Given the description of an element on the screen output the (x, y) to click on. 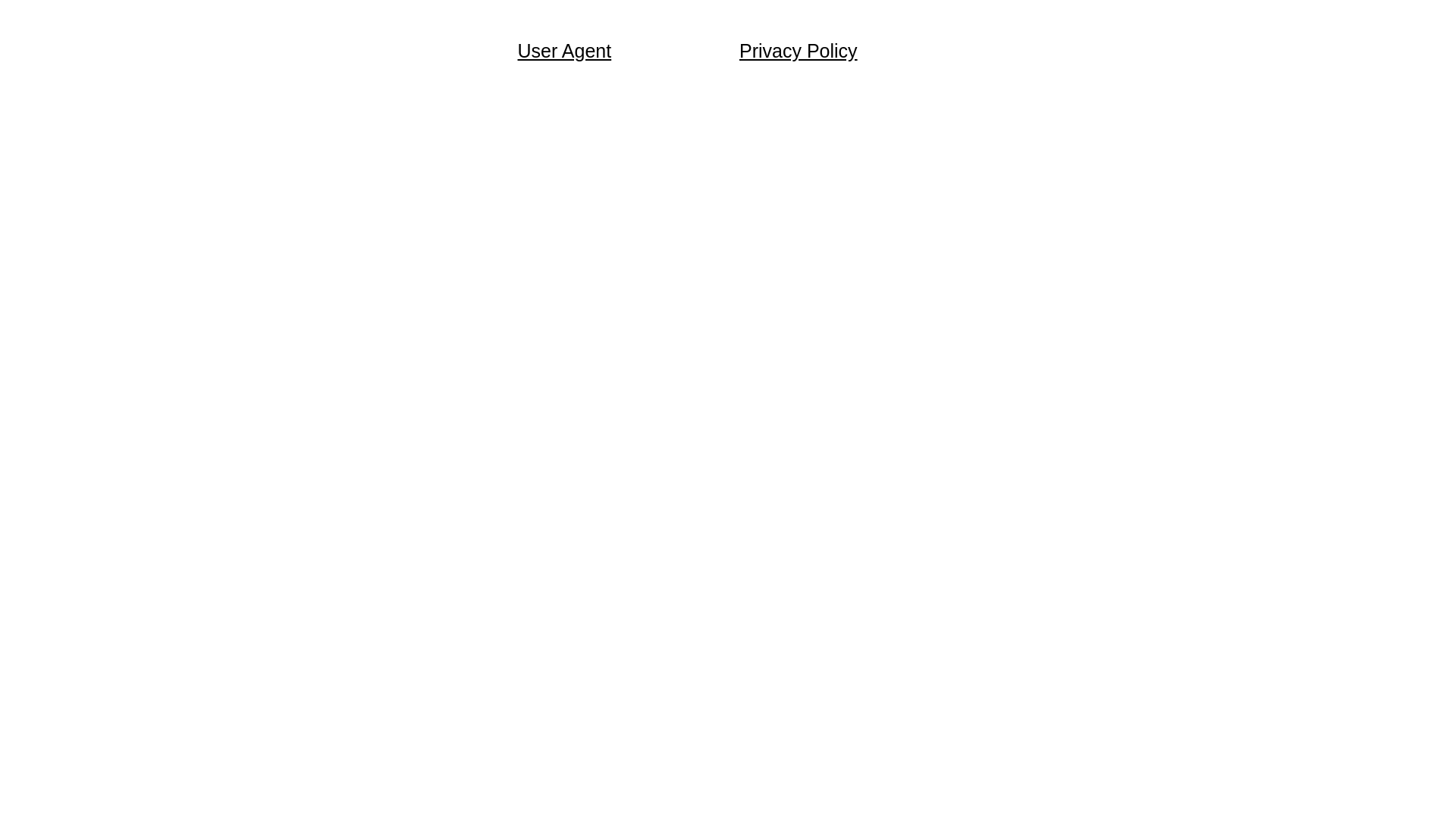
Privacy Policy Element type: text (798, 50)
User Agent Element type: text (564, 50)
